Given the description of an element on the screen output the (x, y) to click on. 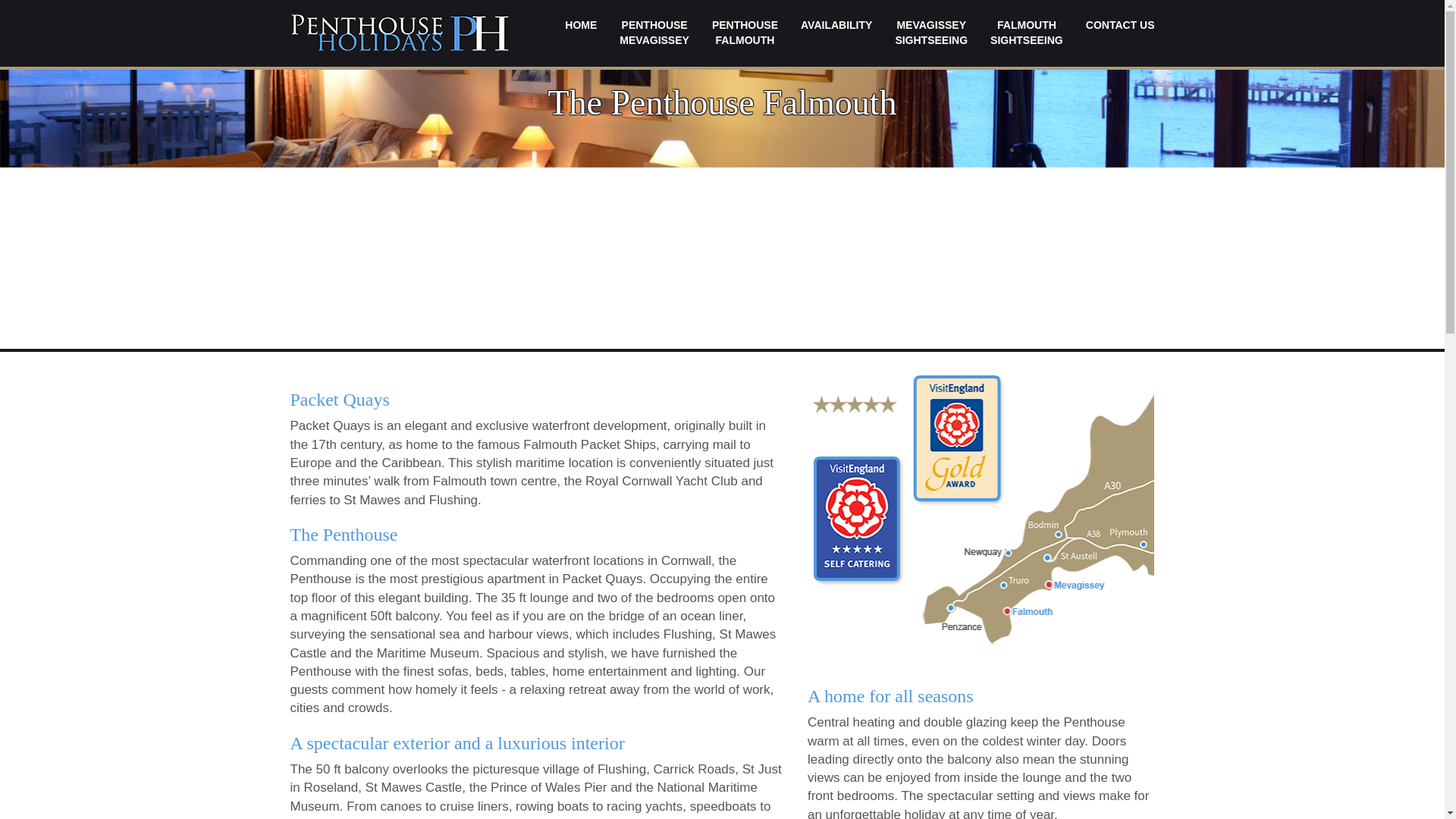
HOME (1026, 31)
CONTACT US (580, 24)
AVAILABILITY (744, 31)
